Given the description of an element on the screen output the (x, y) to click on. 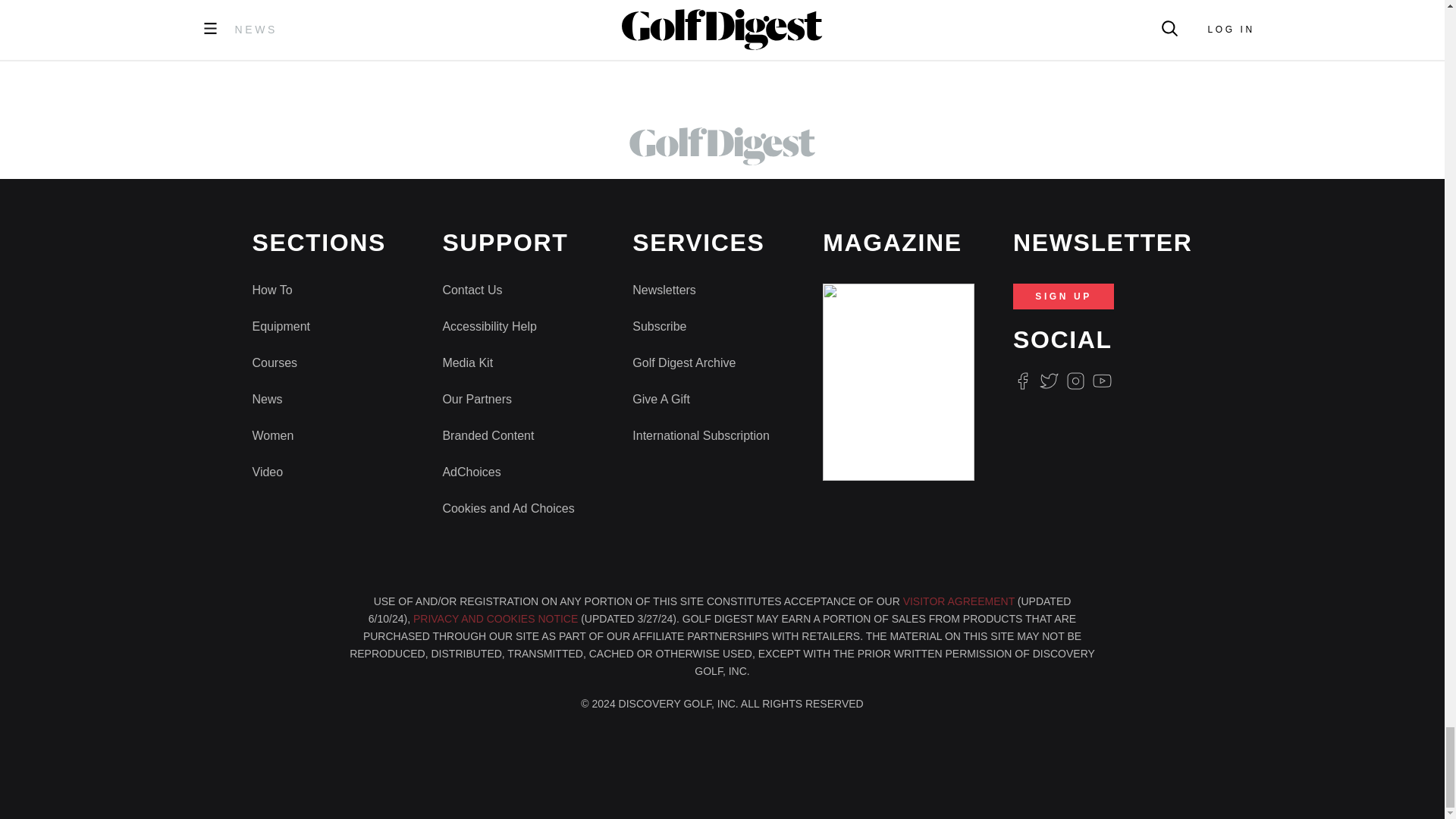
Facebook Logo (1022, 380)
Twitter Logo (1048, 380)
Instagram Logo (1074, 380)
Youtube Icon (1102, 380)
